Given the description of an element on the screen output the (x, y) to click on. 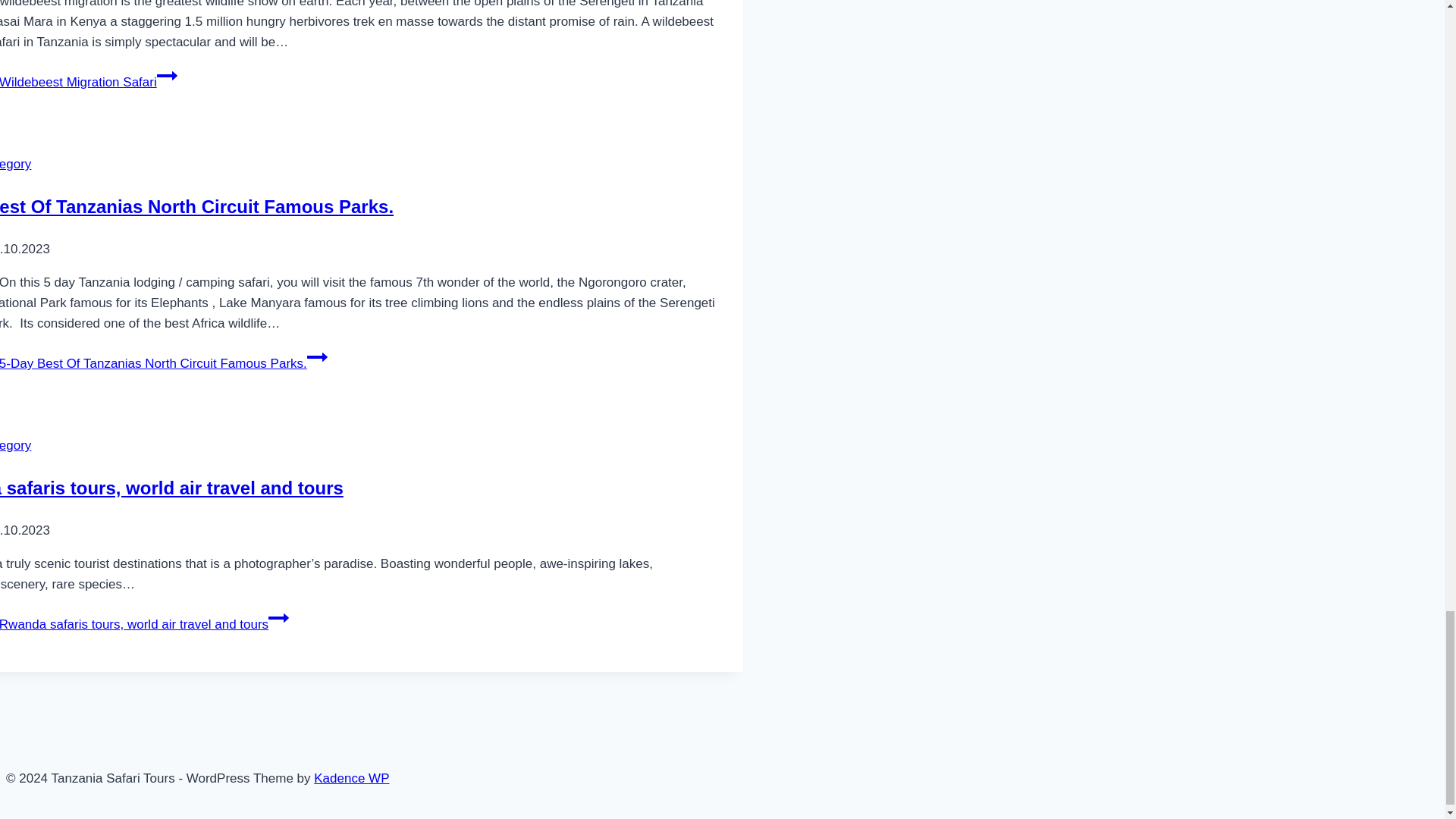
Without Category (15, 164)
Read More Wildebeest Migration SafariContinue (88, 82)
5-Day Best Of Tanzanias North Circuit Famous Parks. (196, 205)
Continue (317, 356)
Continue (277, 617)
Continue (167, 75)
